Given the description of an element on the screen output the (x, y) to click on. 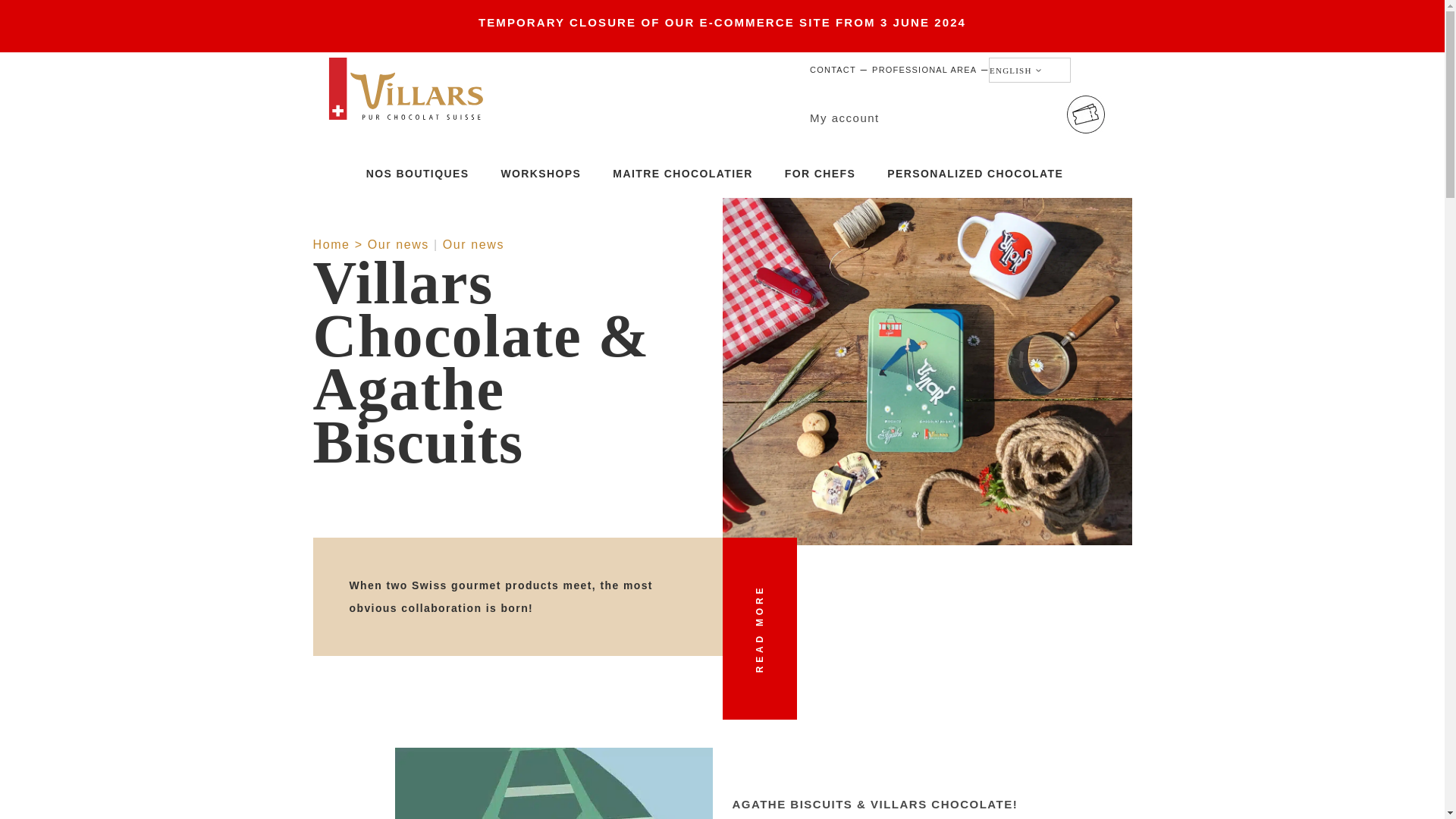
MAITRE CHOCOLATIER (682, 176)
PROFESSIONAL AREA (924, 69)
Our news (398, 244)
Logo Villars (407, 88)
FOR CHEFS (820, 176)
Icone-Atelier (1085, 114)
La Fabrik Villars (501, 250)
Historical Shop (501, 242)
My account (844, 117)
